Given the description of an element on the screen output the (x, y) to click on. 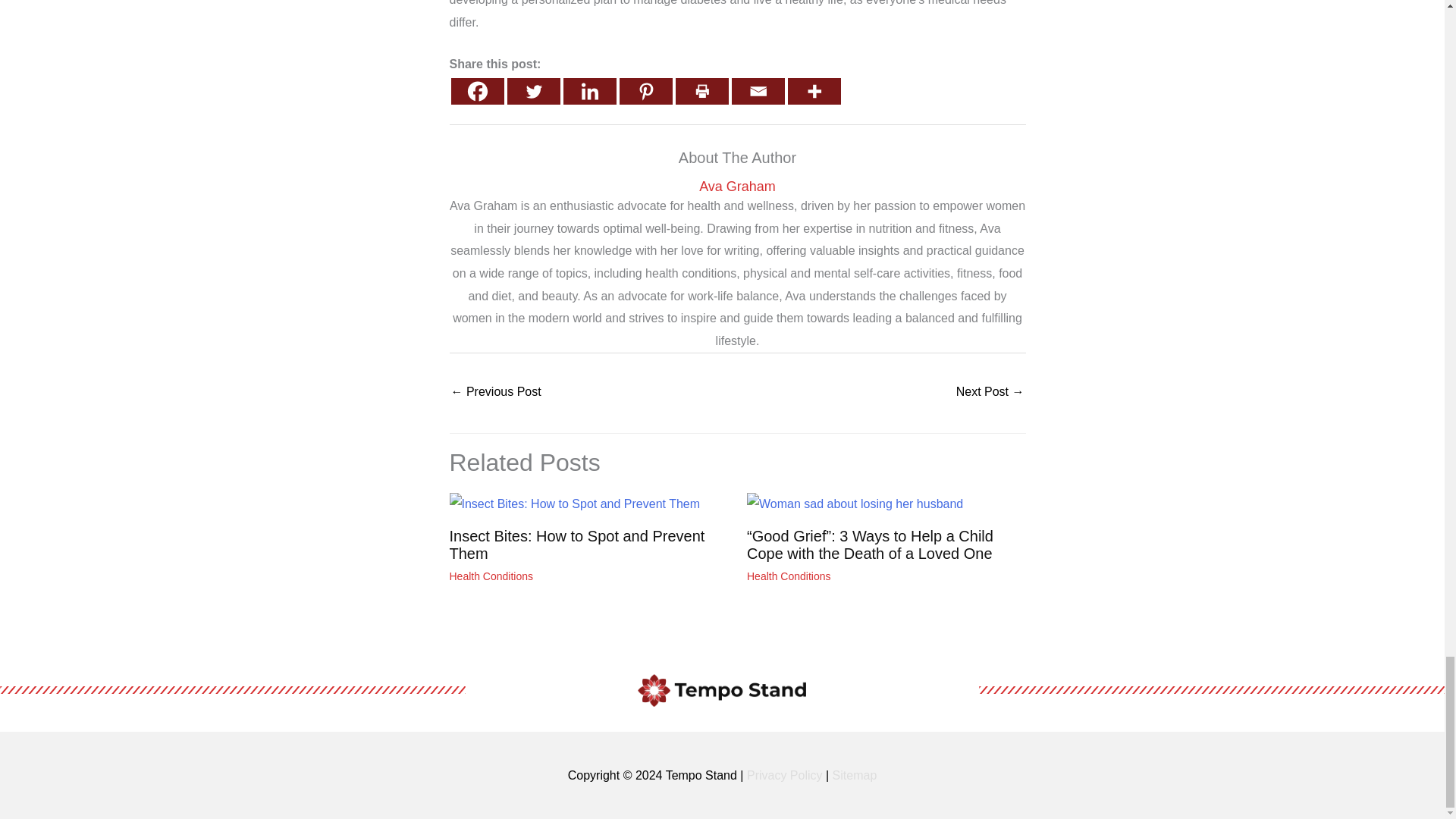
Email (757, 90)
Privacy Policy (784, 775)
Why Are Women More Susceptible to Diabetes Than Men (494, 393)
Pinterest (644, 90)
More (813, 90)
Sitemap (854, 775)
Twitter (532, 90)
Print (701, 90)
Health Conditions (490, 576)
Health Conditions (788, 576)
Ava Graham (736, 186)
Linkedin (588, 90)
Facebook (476, 90)
Insect Bites: How to Spot and Prevent Them (576, 544)
